Given the description of an element on the screen output the (x, y) to click on. 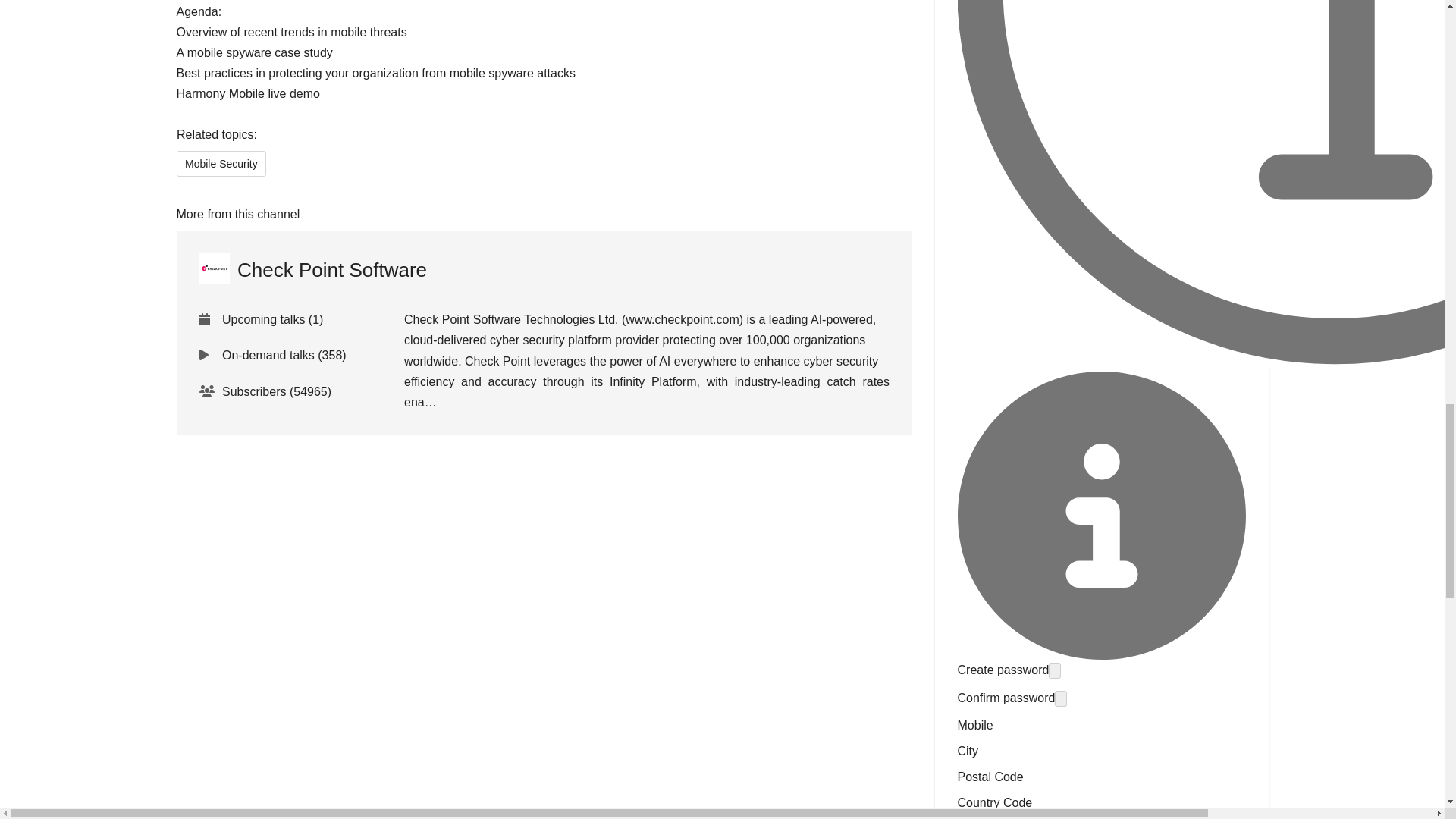
Mobile Security (220, 163)
Check Point Software (312, 269)
Visit Check Point Software's channel (312, 269)
